Given the description of an element on the screen output the (x, y) to click on. 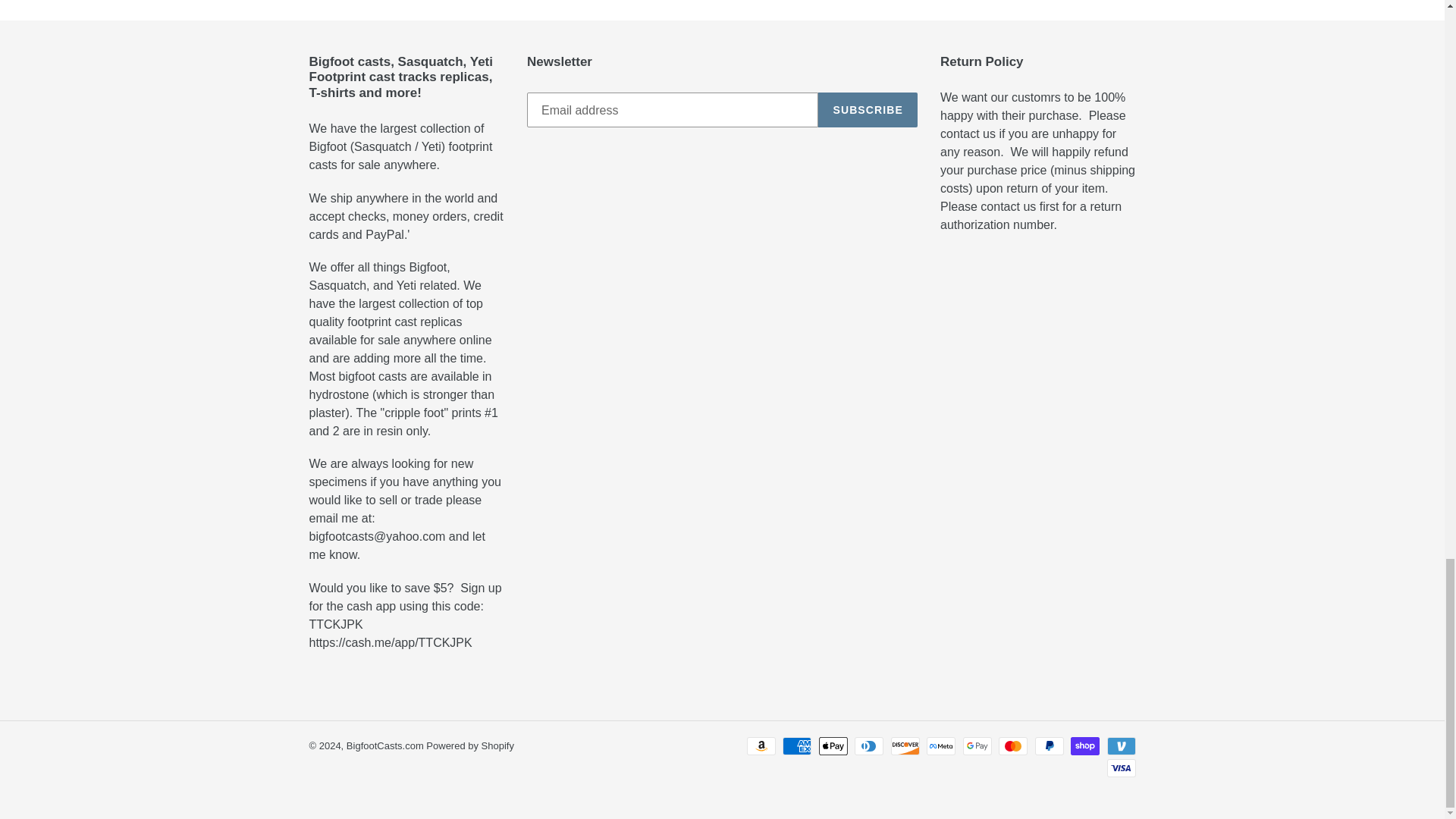
SUBSCRIBE (867, 109)
Powered by Shopify (469, 745)
BigfootCasts.com (386, 745)
